Given the description of an element on the screen output the (x, y) to click on. 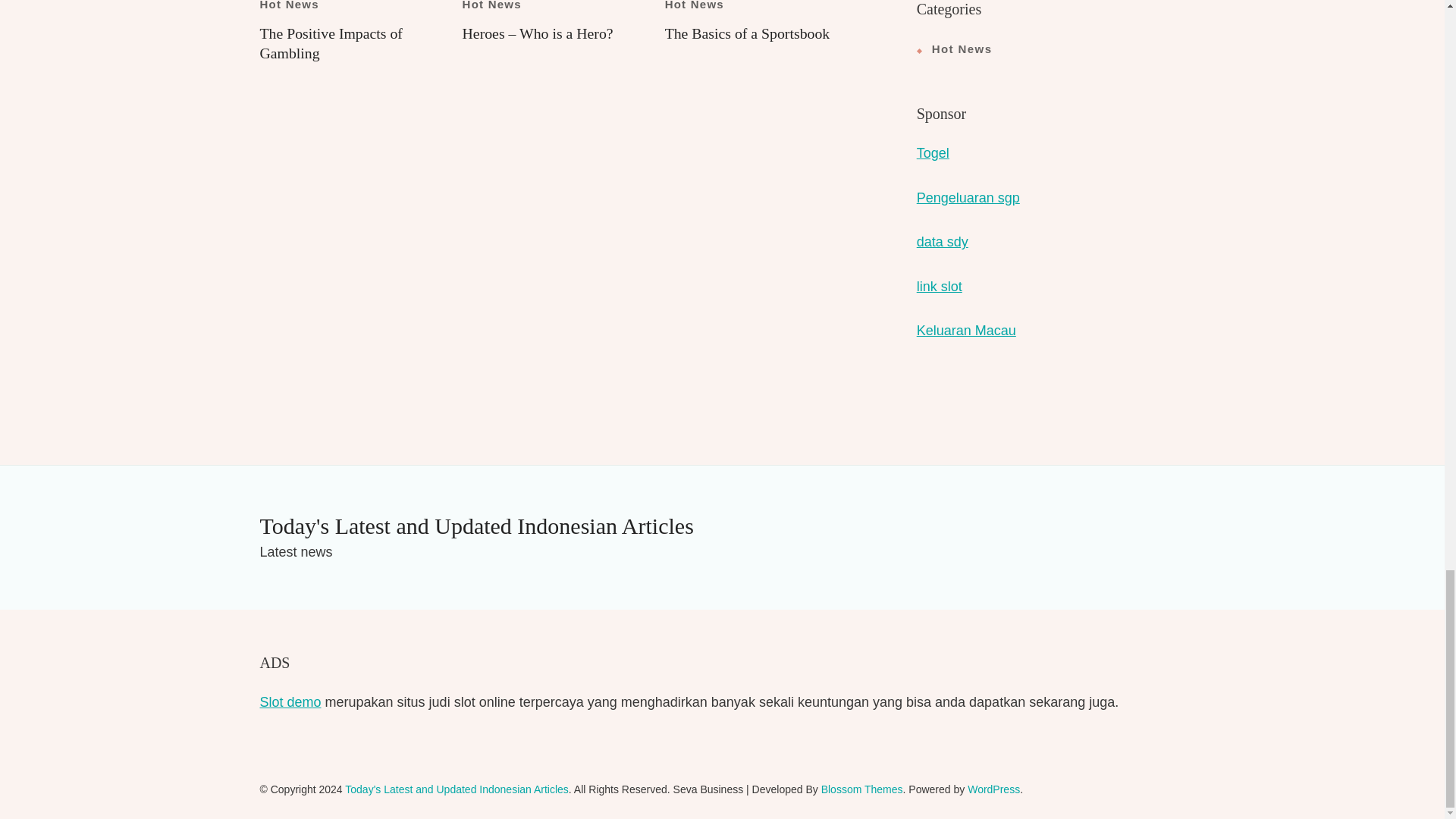
The Basics of a Sportsbook (747, 33)
Hot News (492, 4)
Hot News (694, 4)
The Positive Impacts of Gambling (330, 43)
Hot News (288, 4)
